Given the description of an element on the screen output the (x, y) to click on. 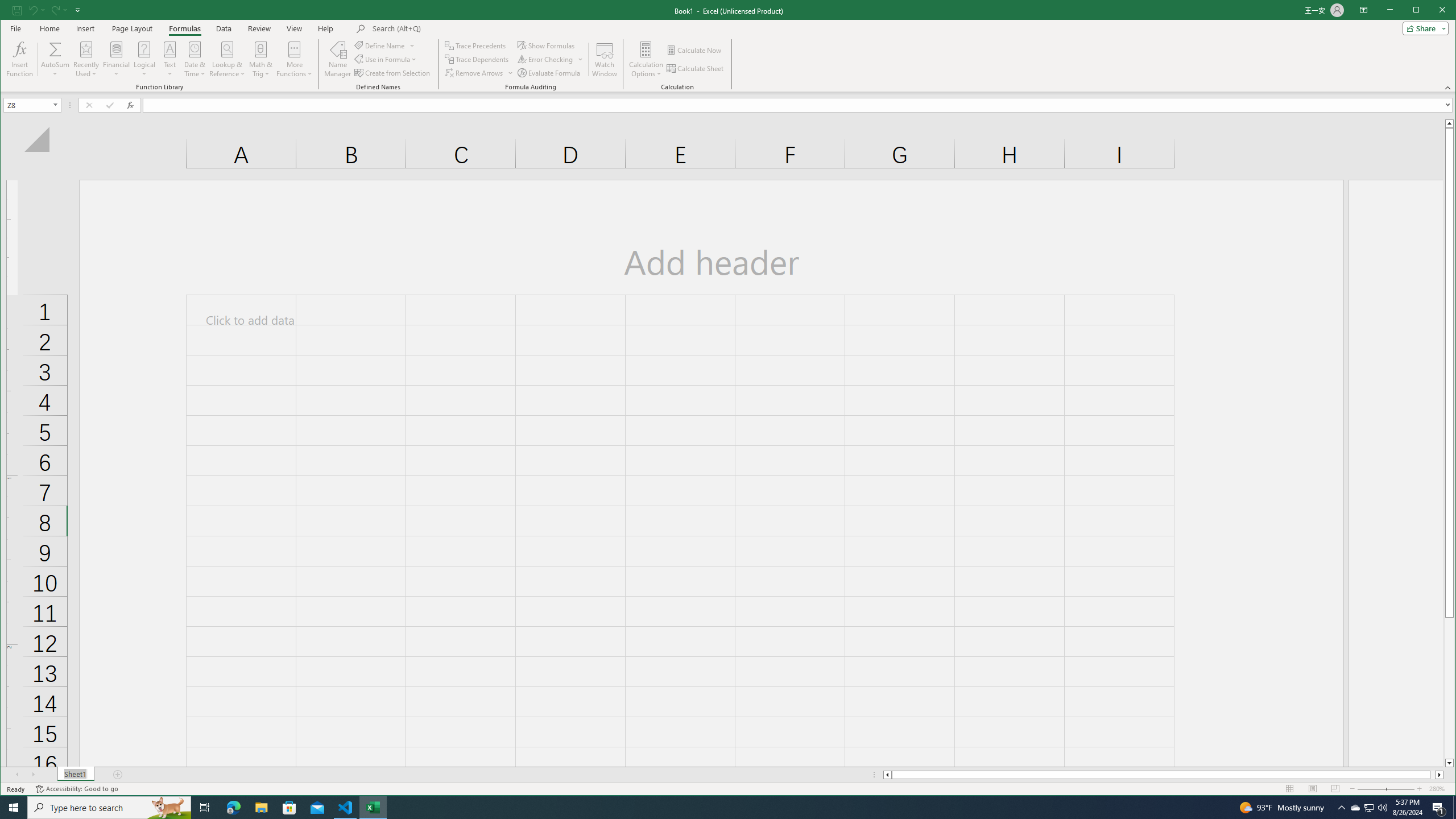
Sum (55, 48)
Calculate Now (695, 49)
Error Checking... (550, 59)
Notification Chevron (1341, 807)
Microsoft Store (289, 807)
Trace Dependents (477, 59)
